Given the description of an element on the screen output the (x, y) to click on. 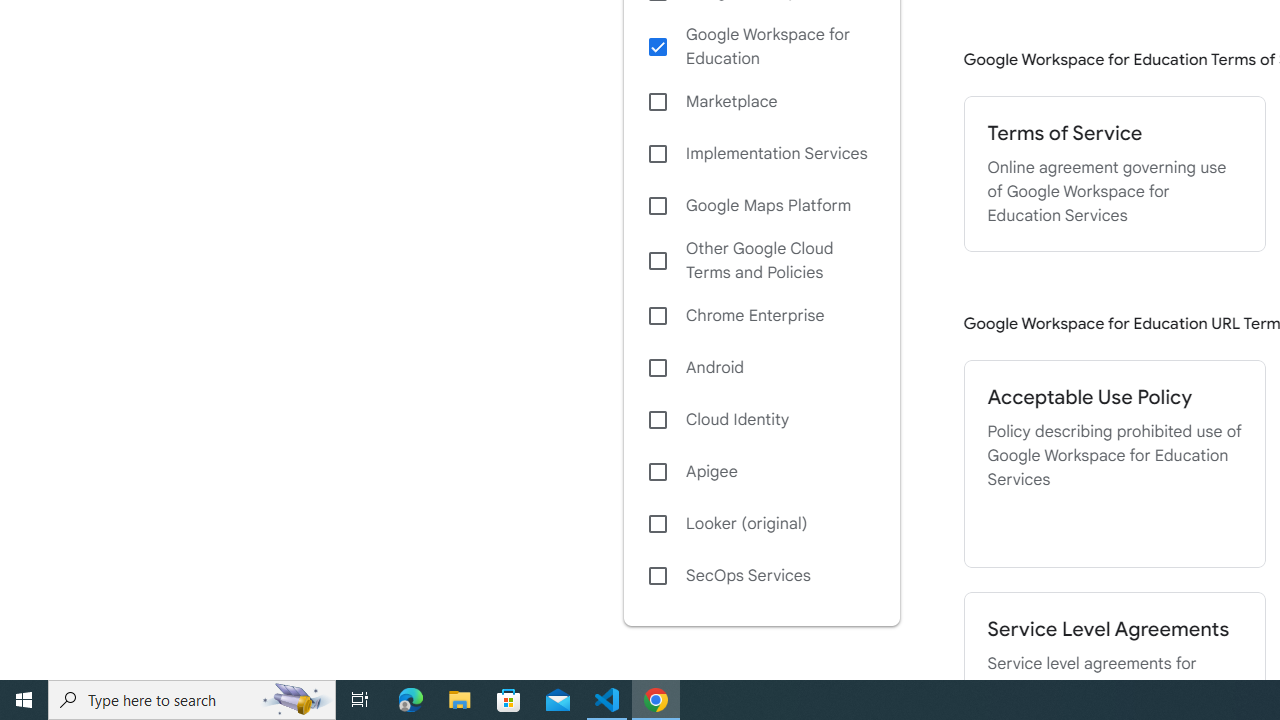
Chrome Enterprise (761, 316)
Other Google Cloud Terms and Policies (761, 260)
Google Workspace for Education (761, 47)
Marketplace (761, 102)
Android (761, 367)
SecOps Services (761, 575)
Apigee (761, 471)
Implementation Services (761, 154)
Cloud Identity (761, 419)
Looker (original) (761, 524)
Google Maps Platform (761, 205)
